Given the description of an element on the screen output the (x, y) to click on. 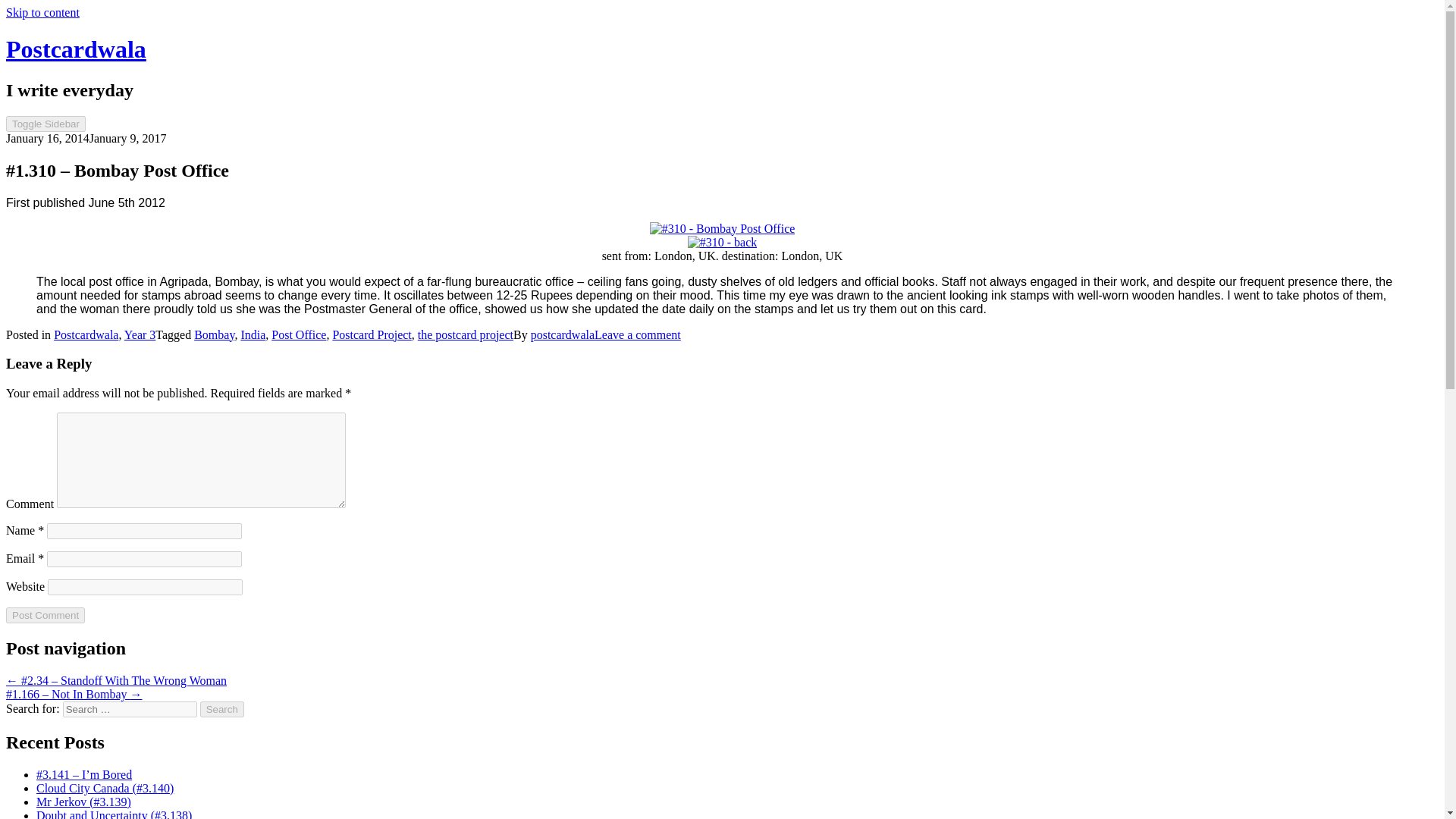
Search (222, 709)
Postcard Project (370, 334)
Post Comment (44, 615)
Year 3 (139, 334)
Postcardwala (76, 49)
the postcard project (465, 334)
Post Office (298, 334)
India (252, 334)
Bombay (213, 334)
postcardwala (562, 334)
